Given the description of an element on the screen output the (x, y) to click on. 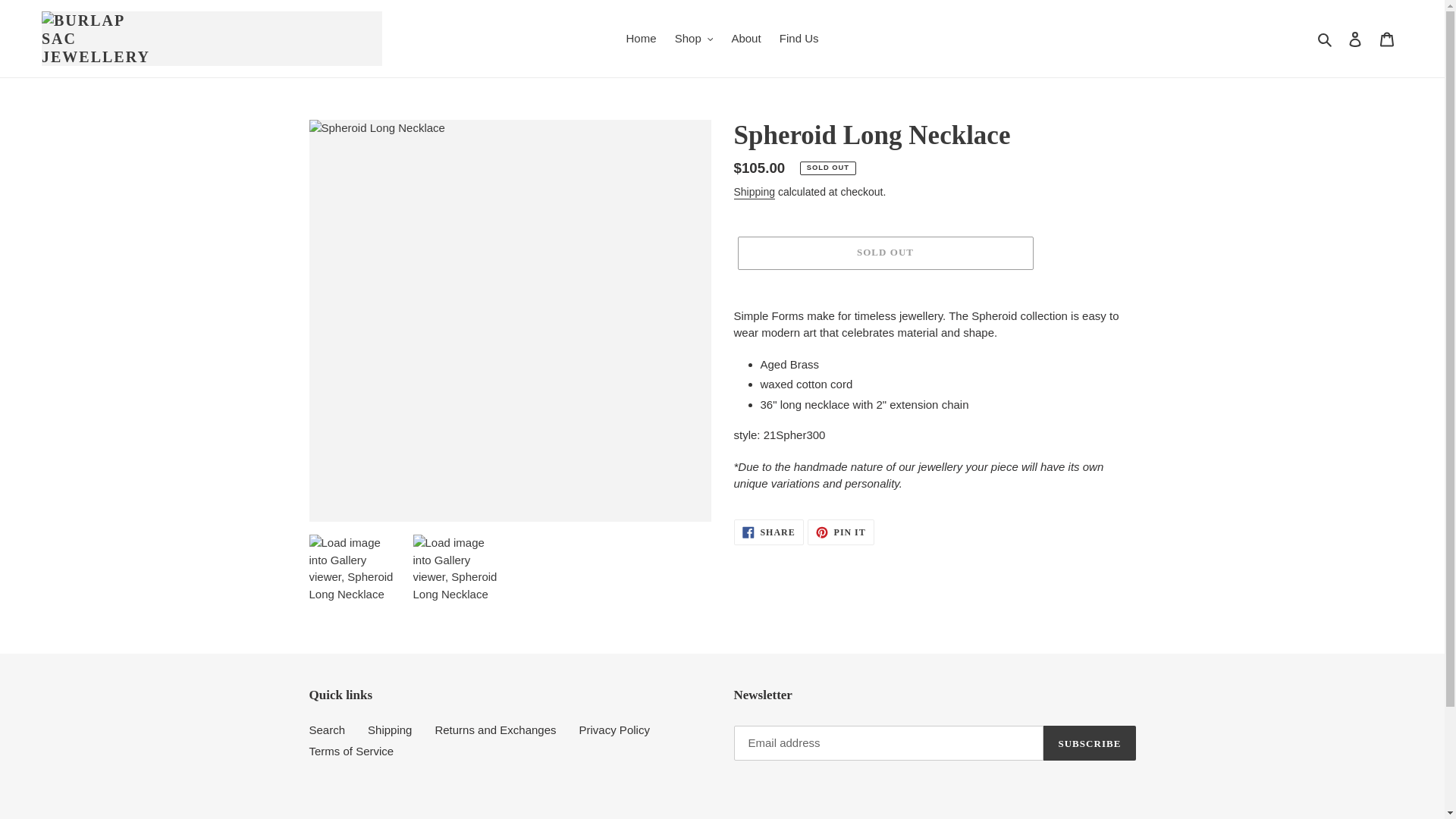
Home (640, 38)
About (745, 38)
Find Us (799, 38)
Search (1326, 38)
Log in (1355, 38)
Cart (1387, 38)
Shop (693, 38)
